Given the description of an element on the screen output the (x, y) to click on. 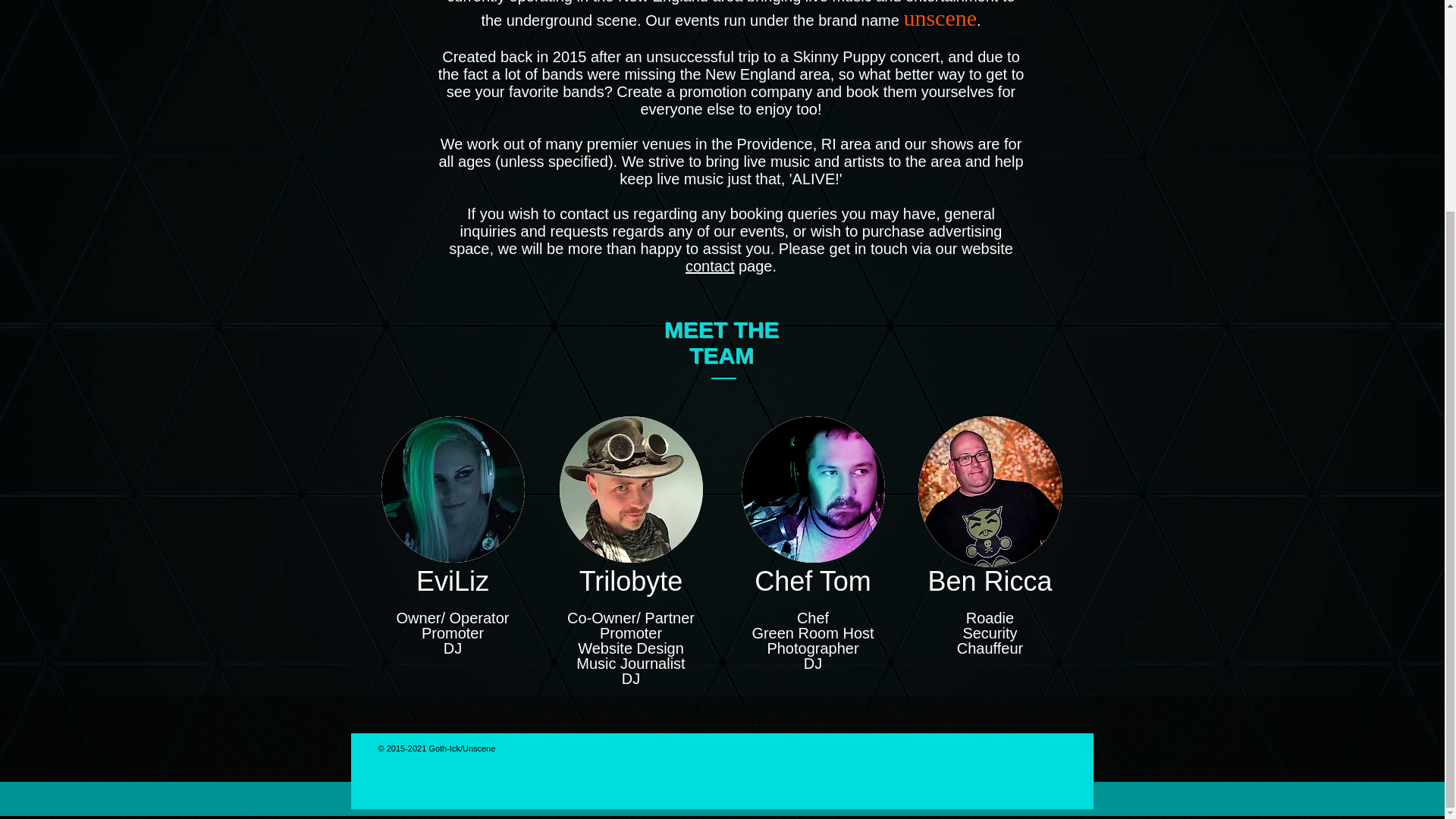
guy4.jpg (631, 489)
contact (709, 265)
guy4.jpg (452, 489)
unscene (939, 17)
guy4.jpg (813, 489)
guy4.jpg (989, 491)
